Given the description of an element on the screen output the (x, y) to click on. 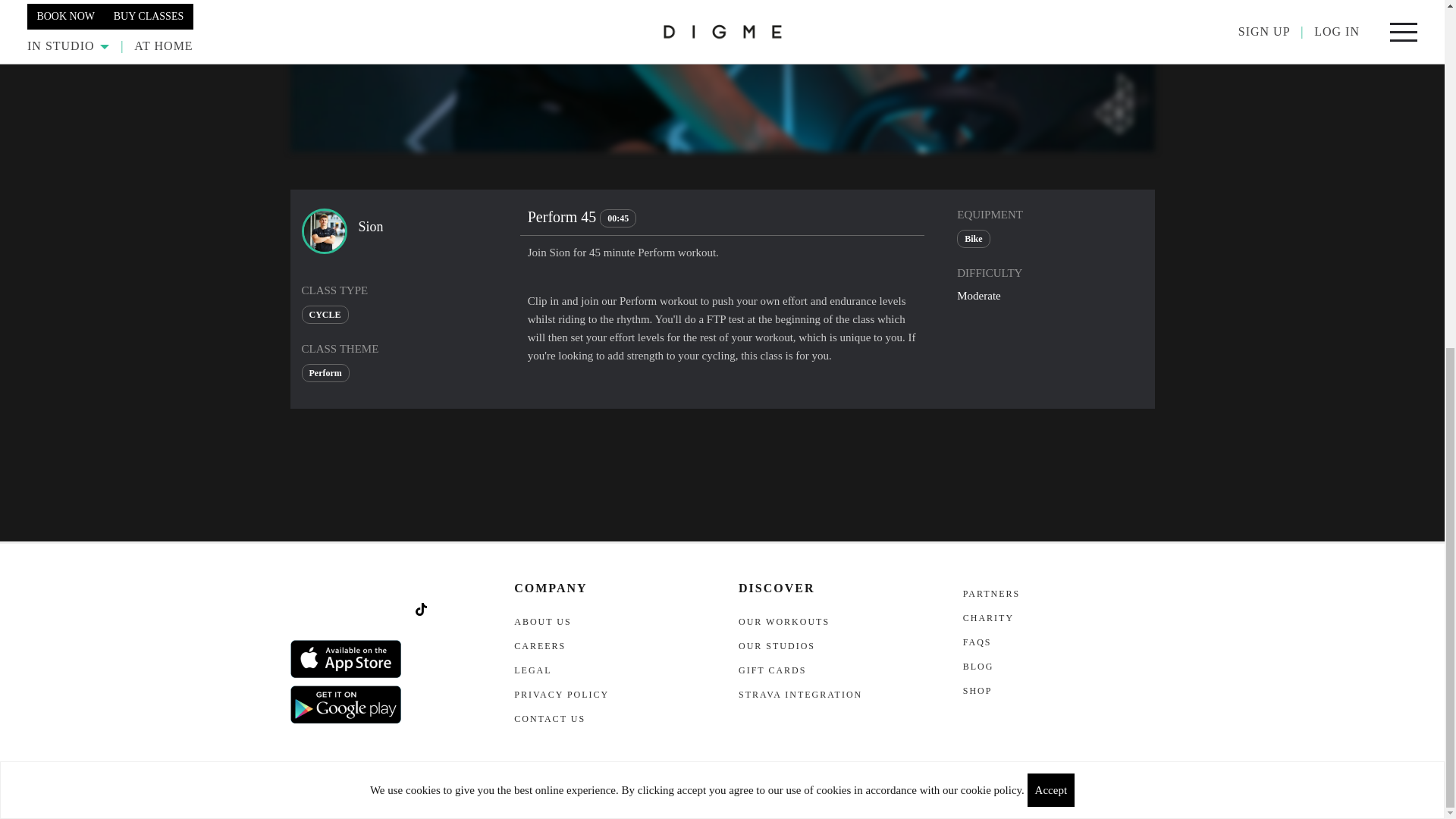
Download Android App (345, 704)
Download iOS App (345, 658)
Accept (1050, 191)
Sion (324, 230)
Digme (314, 797)
